Given the description of an element on the screen output the (x, y) to click on. 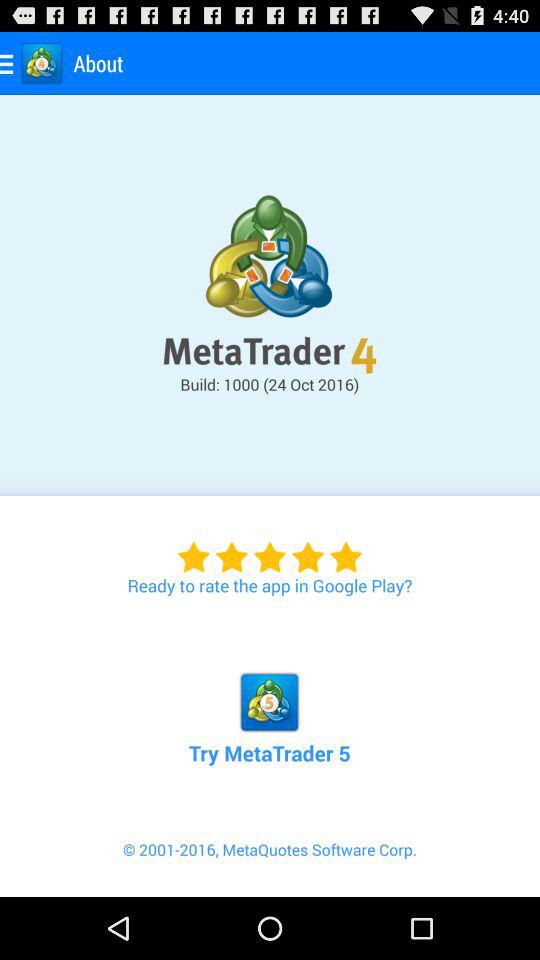
open item below the ready to rate item (269, 696)
